Given the description of an element on the screen output the (x, y) to click on. 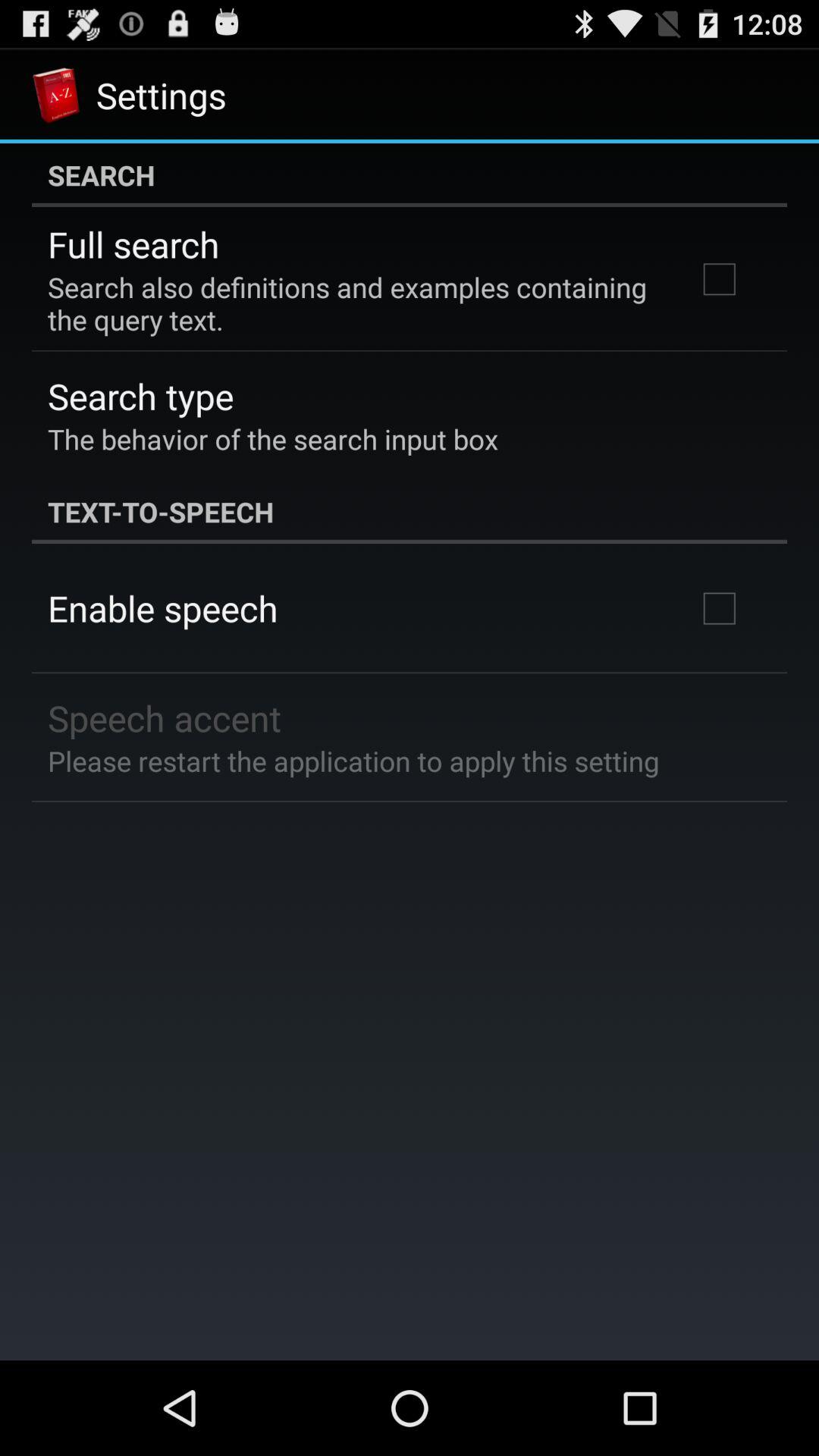
choose the icon below enable speech (164, 717)
